Given the description of an element on the screen output the (x, y) to click on. 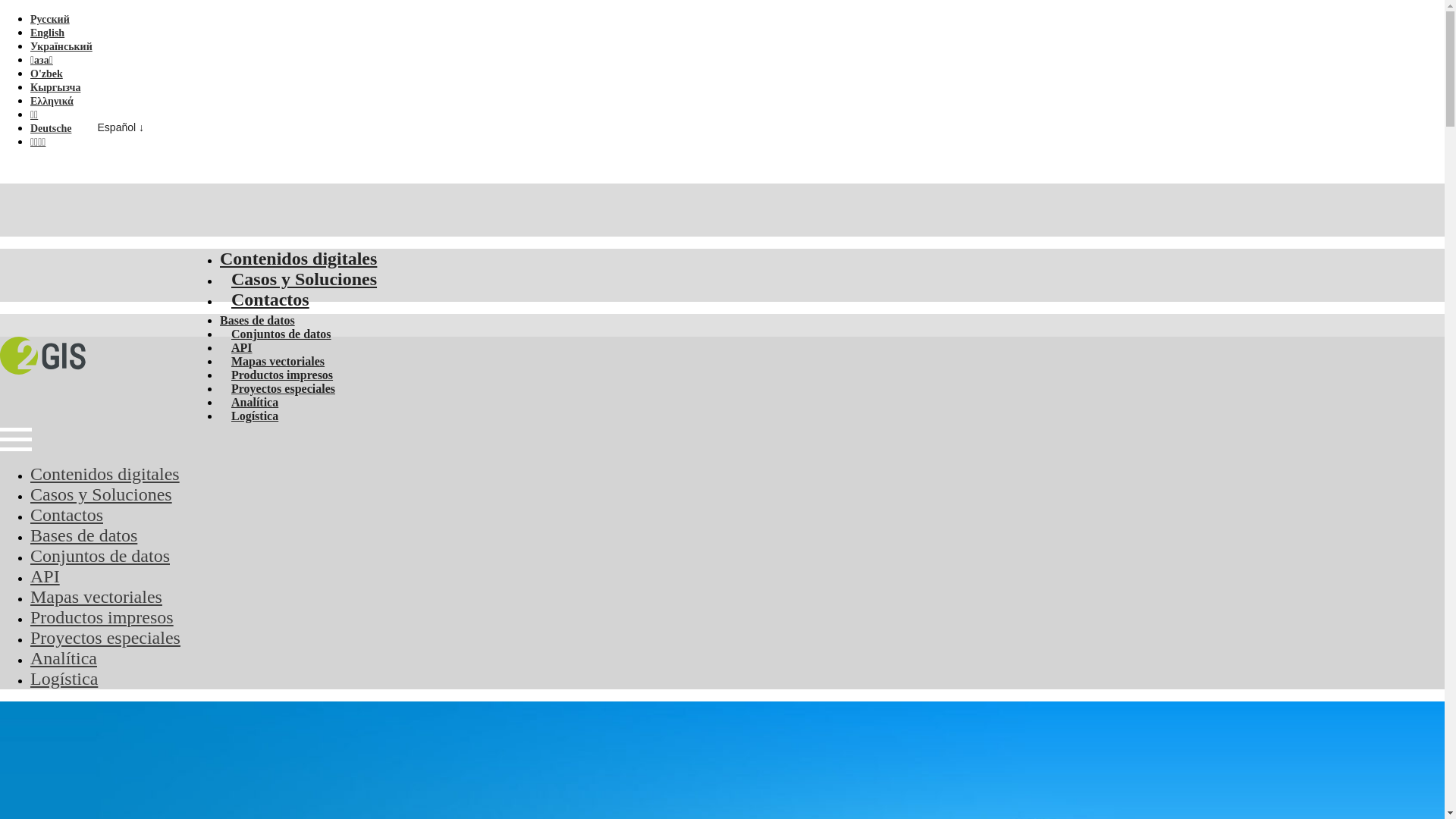
Productos impresos Element type: text (101, 617)
Conjuntos de datos Element type: text (99, 555)
API Element type: text (241, 347)
English Element type: text (47, 32)
Proyectos especiales Element type: text (283, 388)
Contenidos digitales Element type: text (297, 258)
API Element type: text (44, 576)
Conjuntos de datos Element type: text (281, 333)
Casos y Soluciones Element type: text (303, 278)
Contactos Element type: text (270, 299)
O'zbek Element type: text (46, 73)
Bases de datos Element type: text (83, 535)
Deutsche Element type: text (50, 128)
Bases de datos Element type: text (256, 319)
Mapas vectoriales Element type: text (277, 360)
Mapas vectoriales Element type: text (96, 596)
Proyectos especiales Element type: text (105, 637)
Contactos Element type: text (66, 514)
Productos impresos Element type: text (281, 374)
Casos y Soluciones Element type: text (101, 494)
Contenidos digitales Element type: text (104, 473)
